Given the description of an element on the screen output the (x, y) to click on. 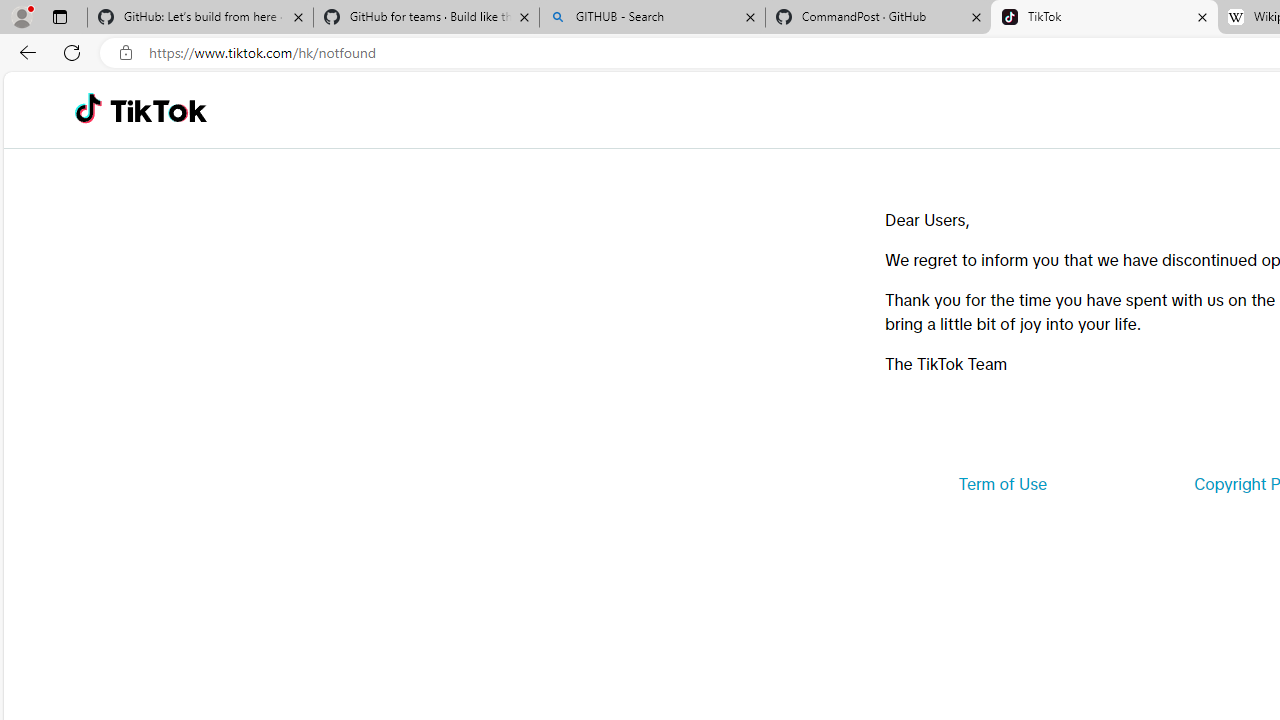
TikTok (1104, 17)
TikTok (158, 110)
GITHUB - Search (652, 17)
Term of Use (1002, 484)
